Given the description of an element on the screen output the (x, y) to click on. 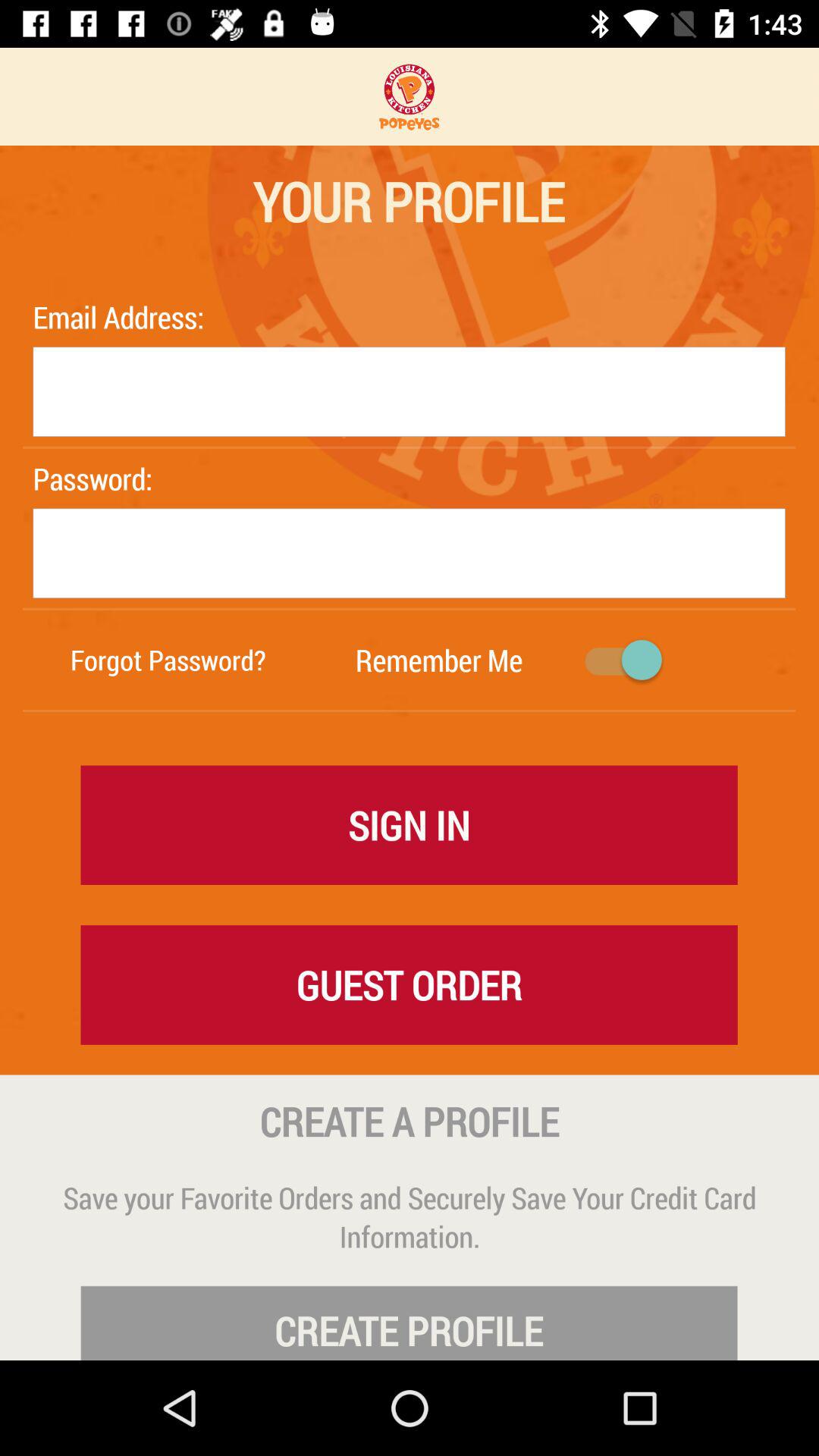
tap the icon below sign in (409, 984)
